Given the description of an element on the screen output the (x, y) to click on. 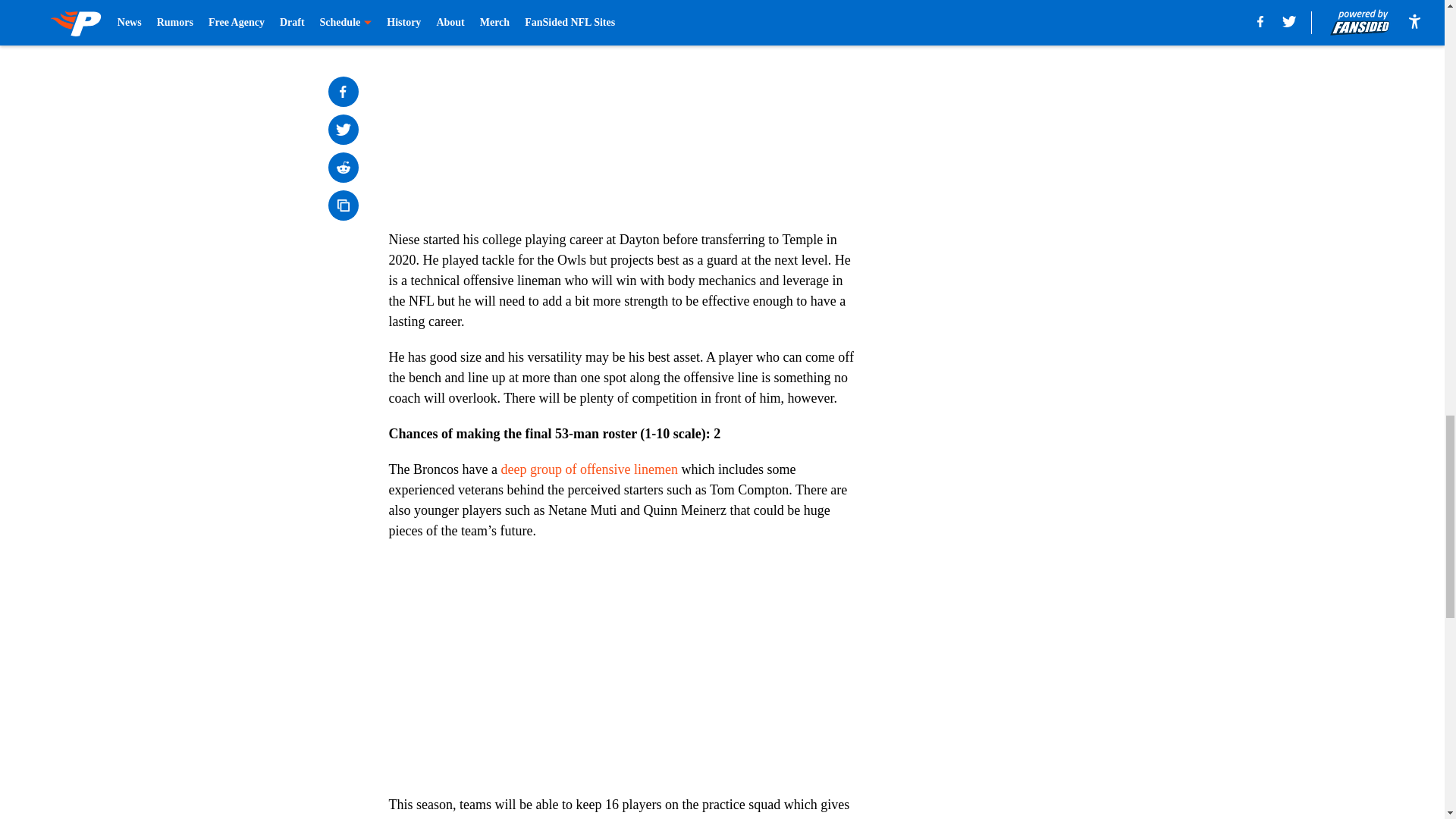
deep group of offensive linemen (589, 468)
